Given the description of an element on the screen output the (x, y) to click on. 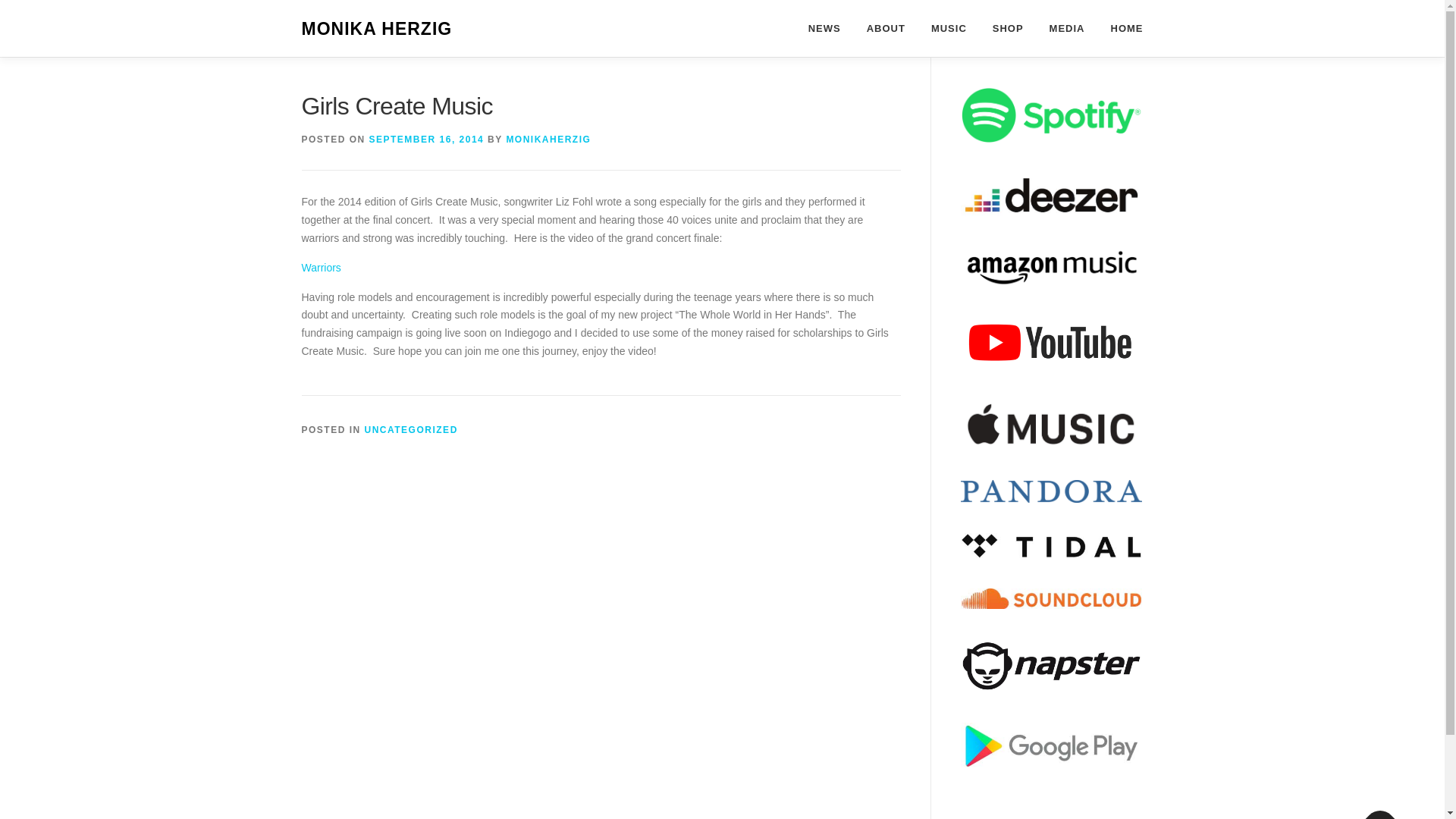
SHOP (1007, 28)
MONIKAHERZIG (548, 139)
MEDIA (1066, 28)
Warriors (320, 267)
ABOUT (885, 28)
NEWS (823, 28)
MUSIC (948, 28)
UNCATEGORIZED (411, 429)
Back To Top (1372, 811)
MONIKA HERZIG (376, 29)
